Given the description of an element on the screen output the (x, y) to click on. 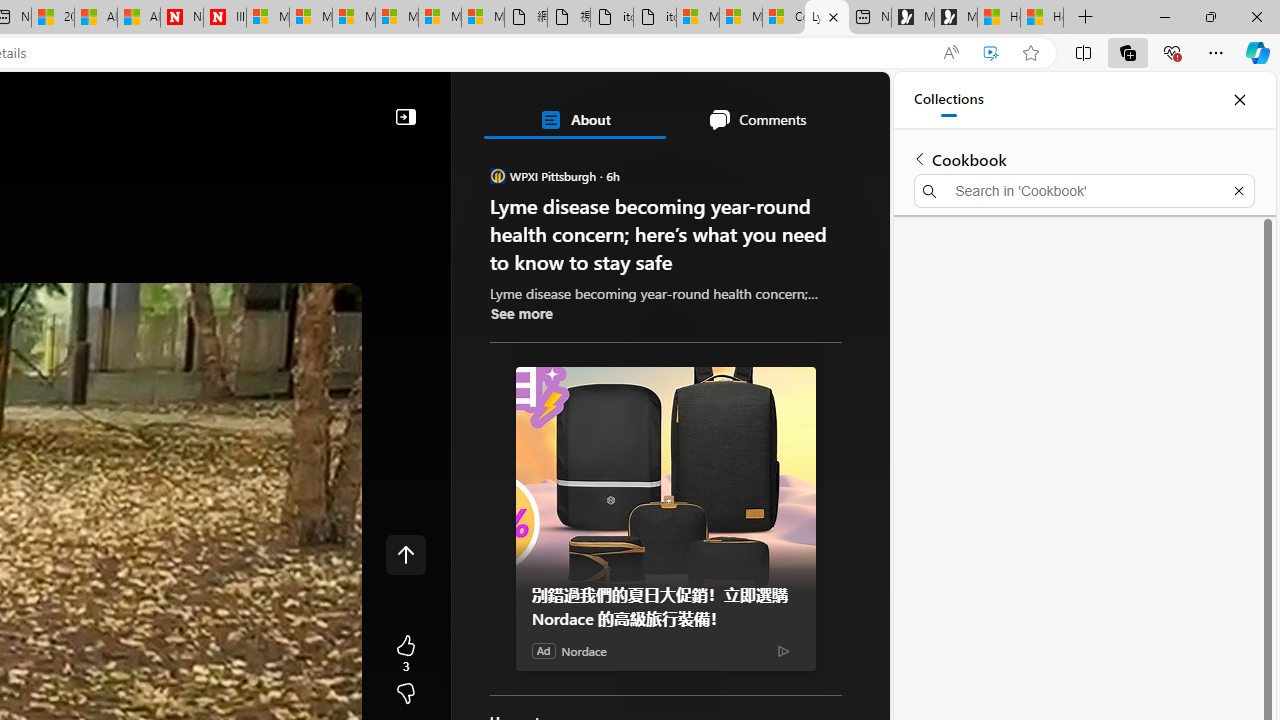
About (574, 119)
Back to list of collections (920, 158)
Ad Choice (784, 650)
Personalize (517, 162)
To get missing image descriptions, open the context menu. (478, 162)
Consumer Health Data Privacy Policy (783, 17)
Nordace (583, 651)
Collapse (406, 115)
Ad (543, 650)
Reuters (584, 557)
